Given the description of an element on the screen output the (x, y) to click on. 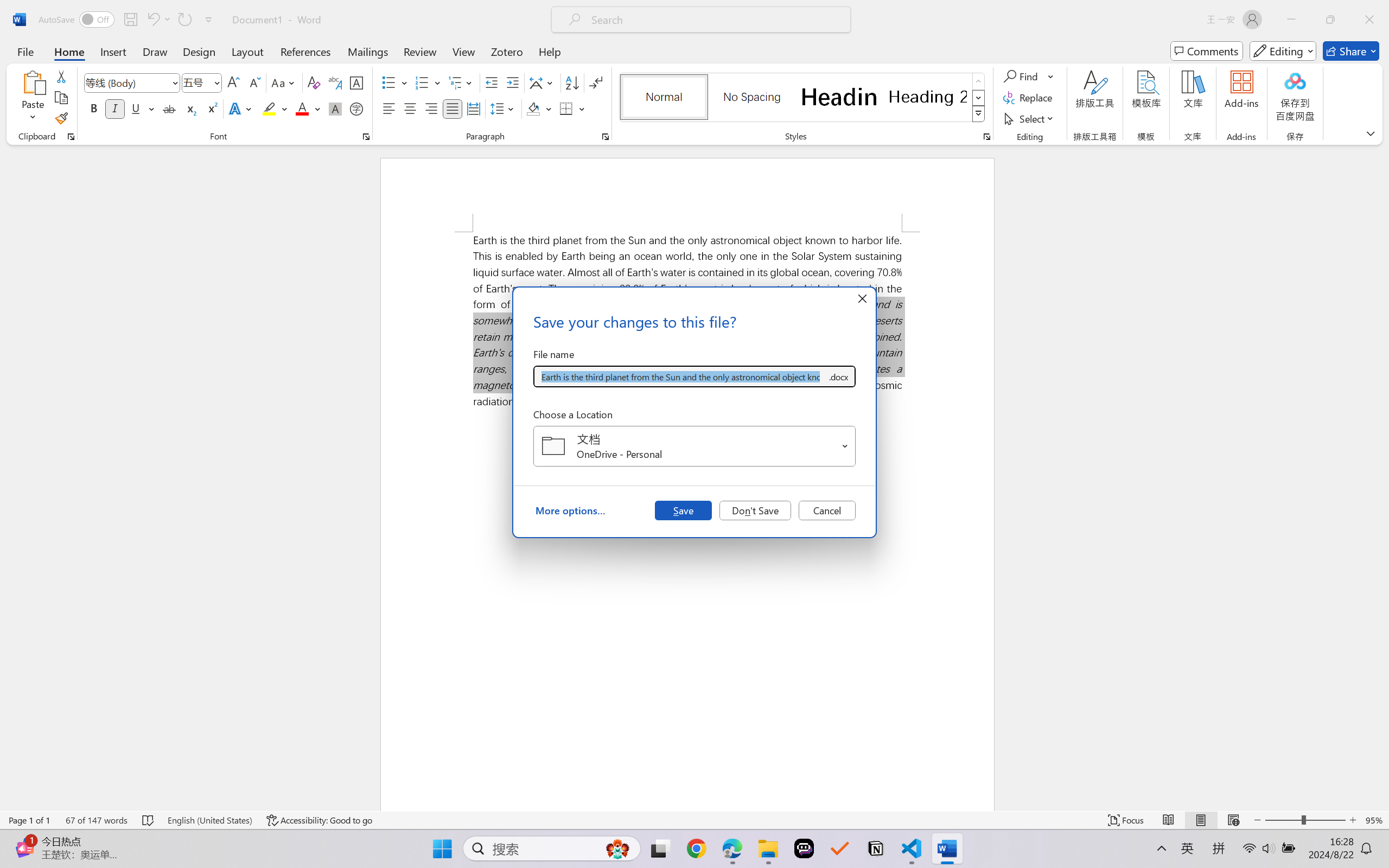
Shrink Font (253, 82)
Copy (60, 97)
Page Number Page 1 of 1 (29, 819)
Increase Indent (512, 82)
Change Case (284, 82)
Asian Layout (542, 82)
